Given the description of an element on the screen output the (x, y) to click on. 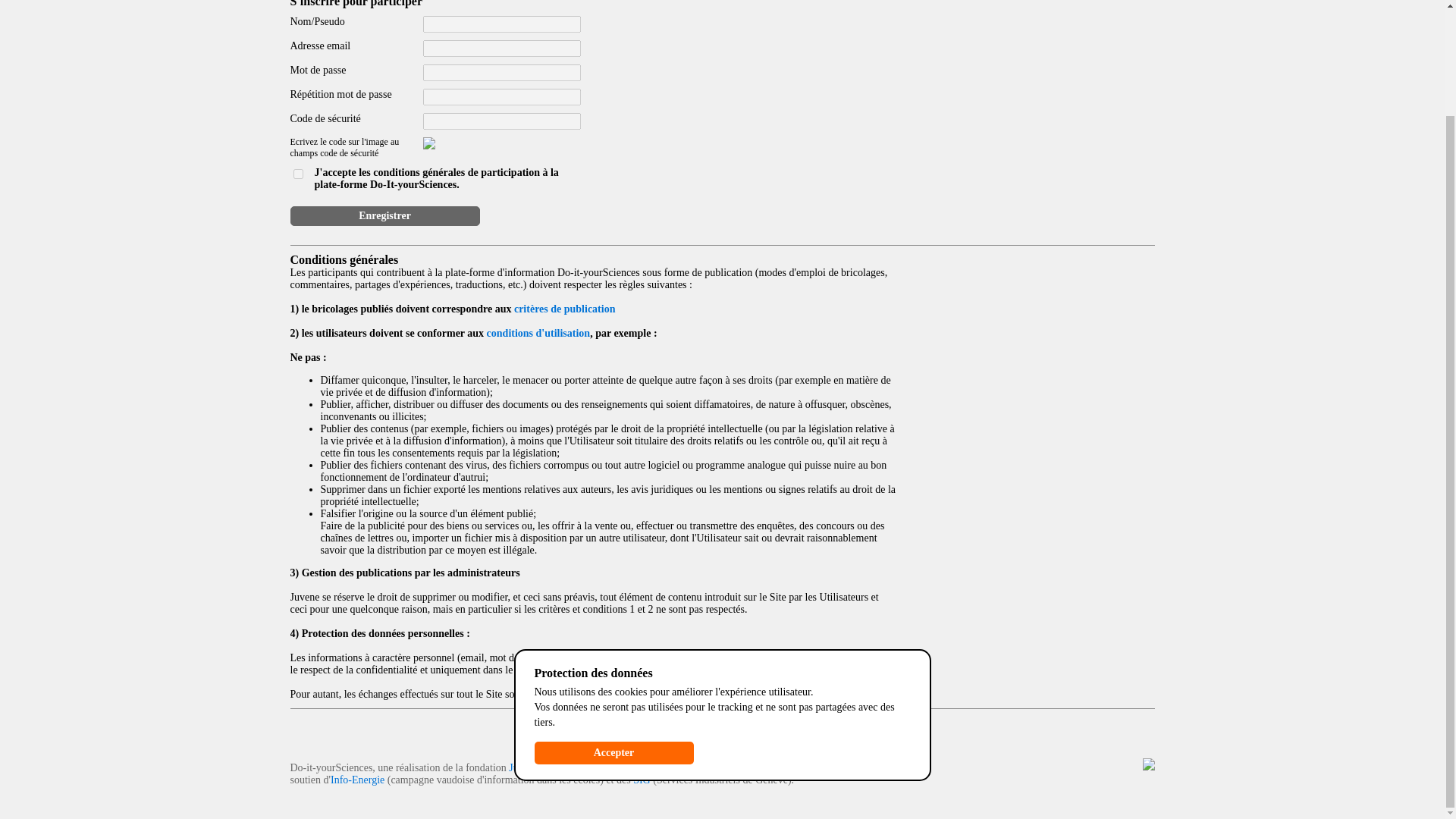
conditions d'utilisation (538, 333)
Info-Energie (357, 779)
l'Espace des Inventions (683, 767)
Enregistrer (384, 216)
Juvene (523, 767)
on (297, 173)
Enregistrer (384, 216)
SIG (641, 779)
